Given the description of an element on the screen output the (x, y) to click on. 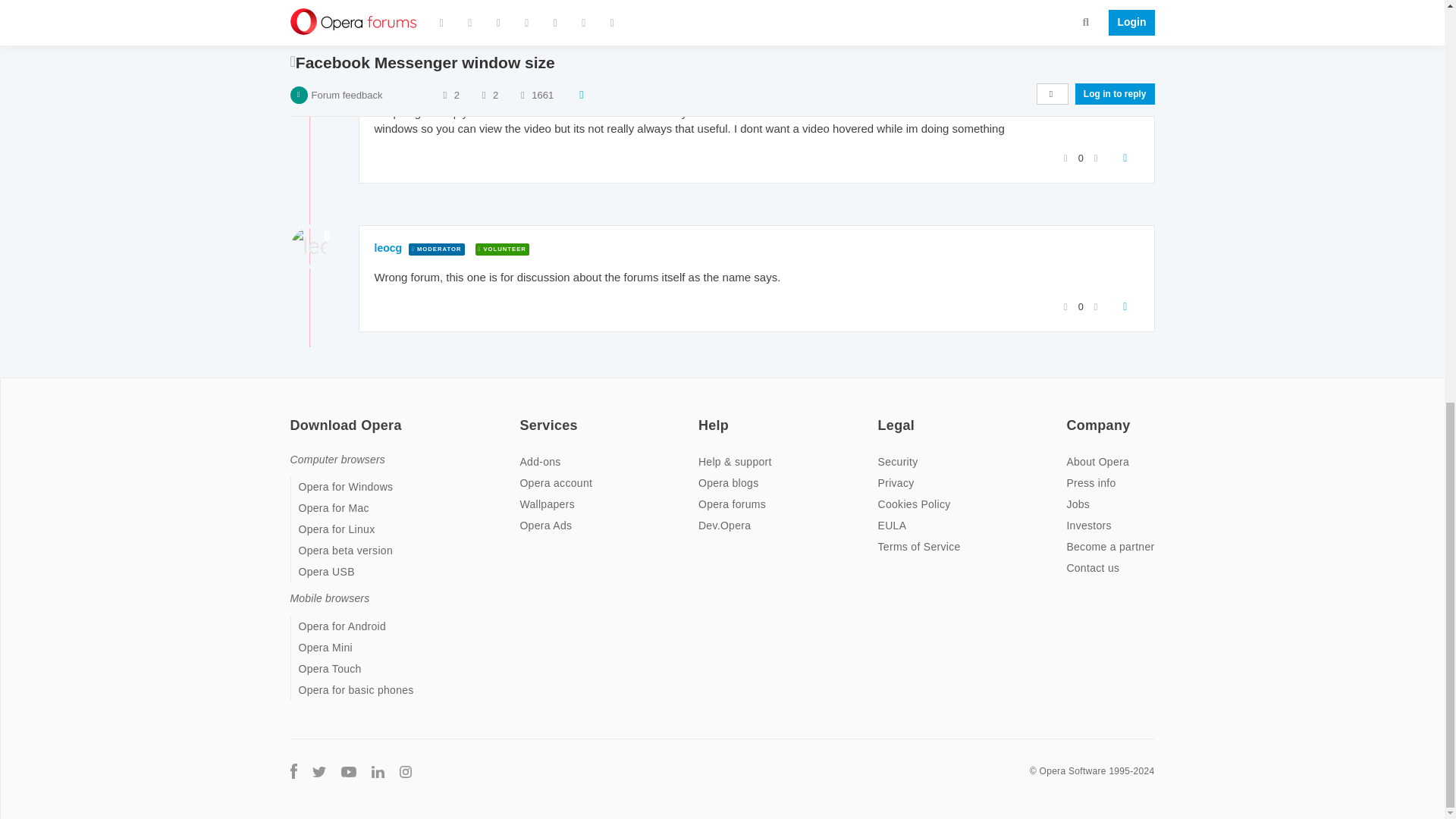
on (293, 415)
on (702, 415)
on (523, 415)
on (1070, 415)
on (881, 415)
